Given the description of an element on the screen output the (x, y) to click on. 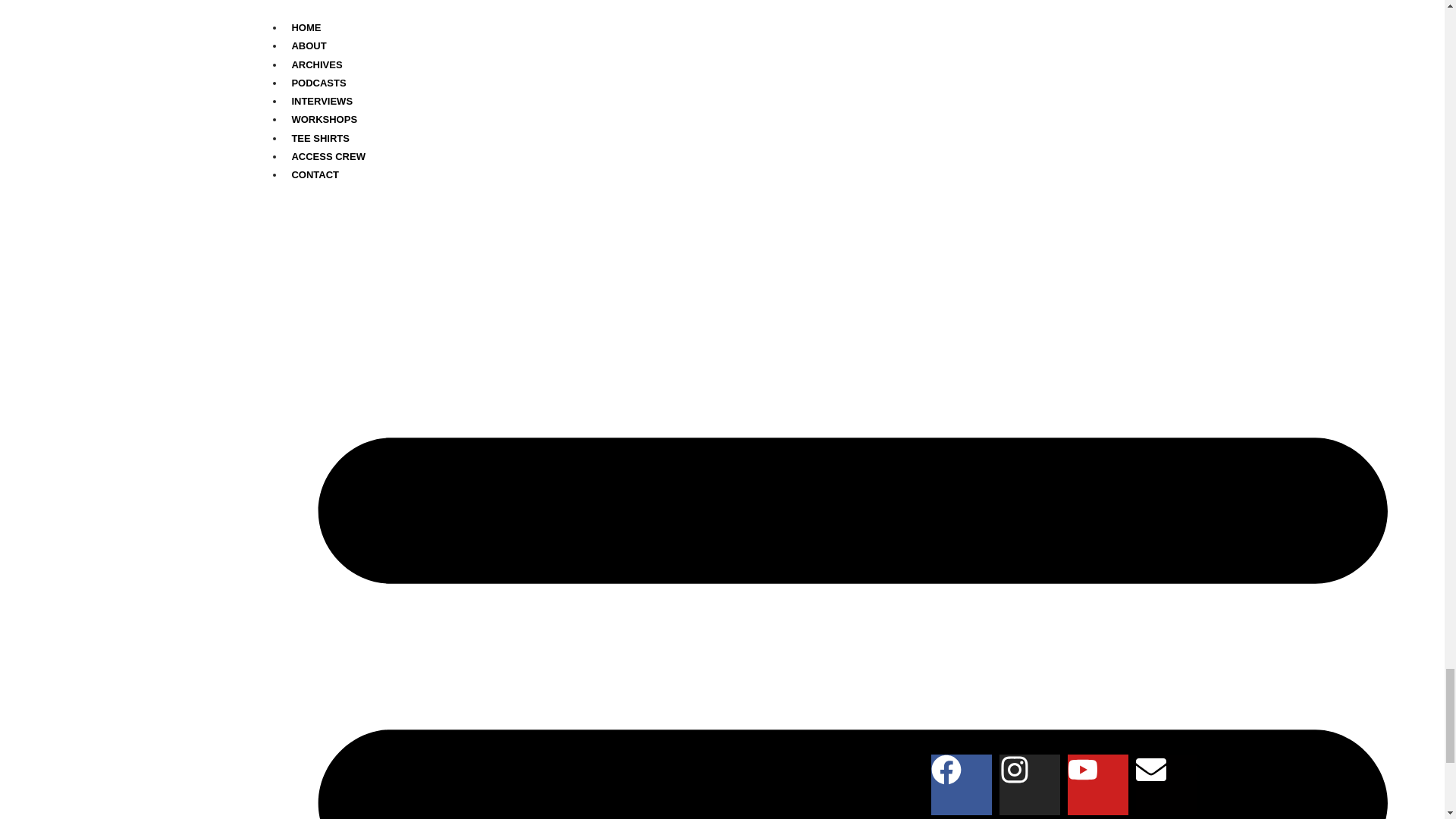
Post Comment (257, 275)
yes (204, 236)
